Given the description of an element on the screen output the (x, y) to click on. 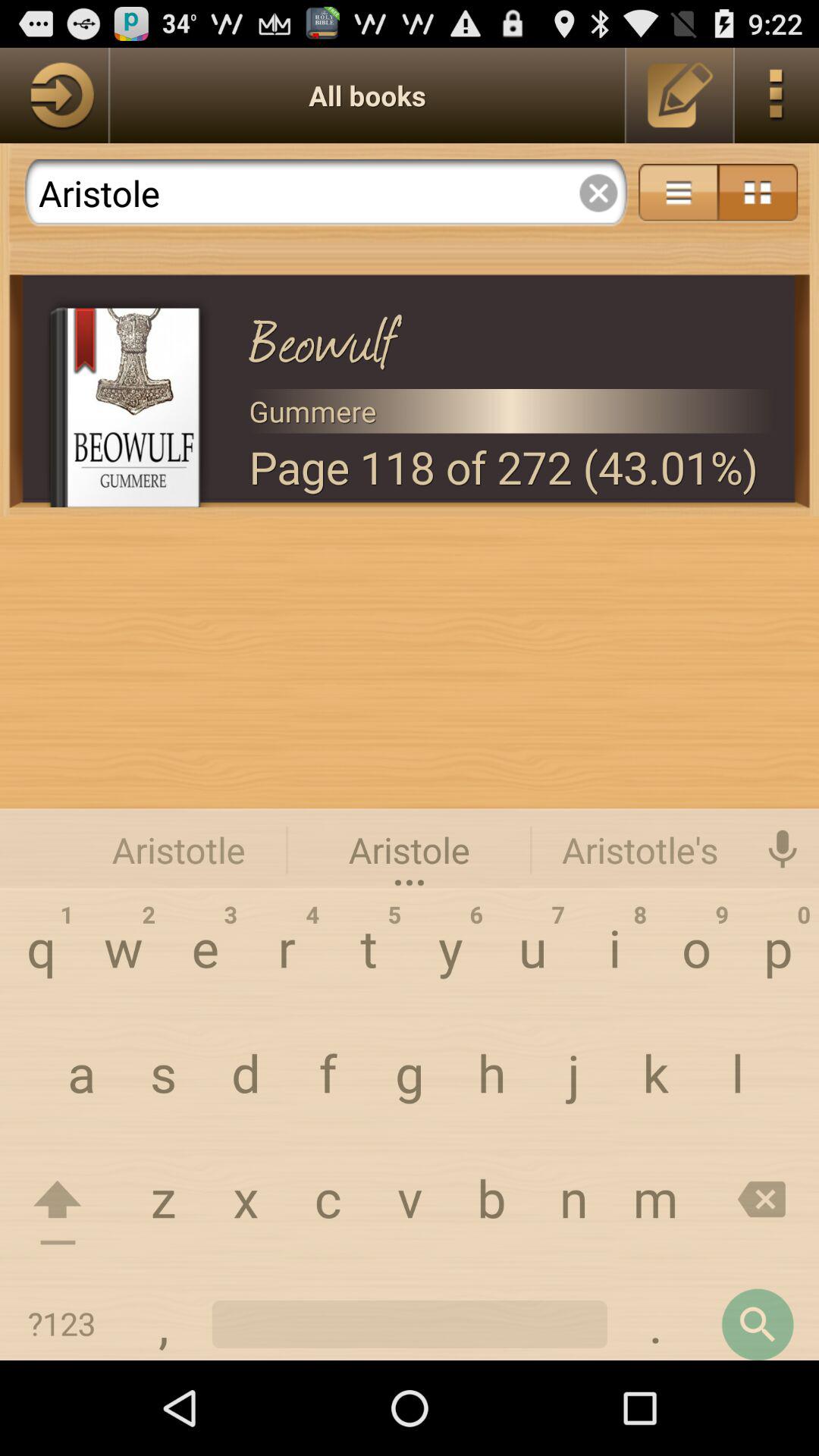
delete text (598, 192)
